Given the description of an element on the screen output the (x, y) to click on. 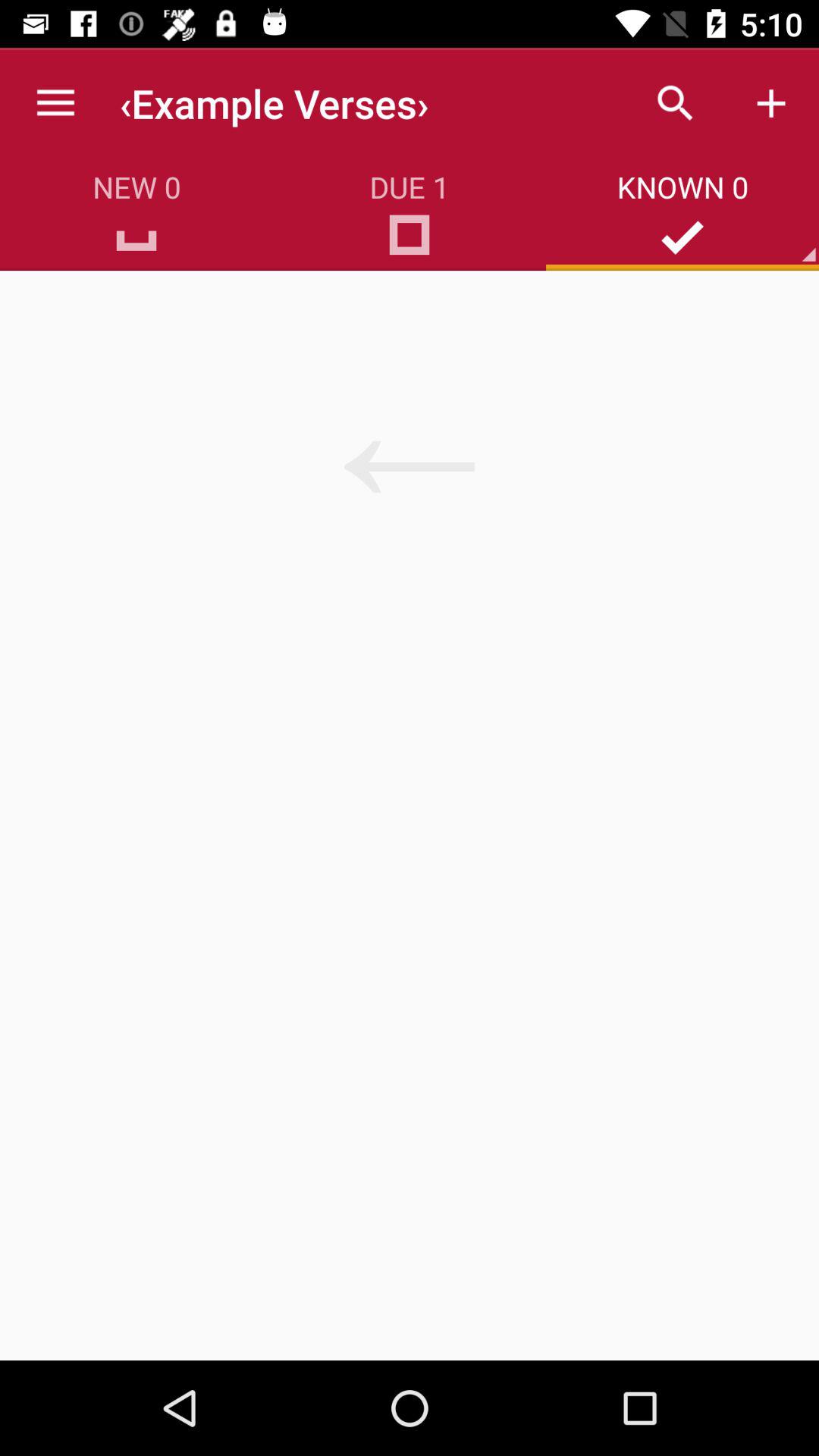
select item above known 0 (675, 103)
